Given the description of an element on the screen output the (x, y) to click on. 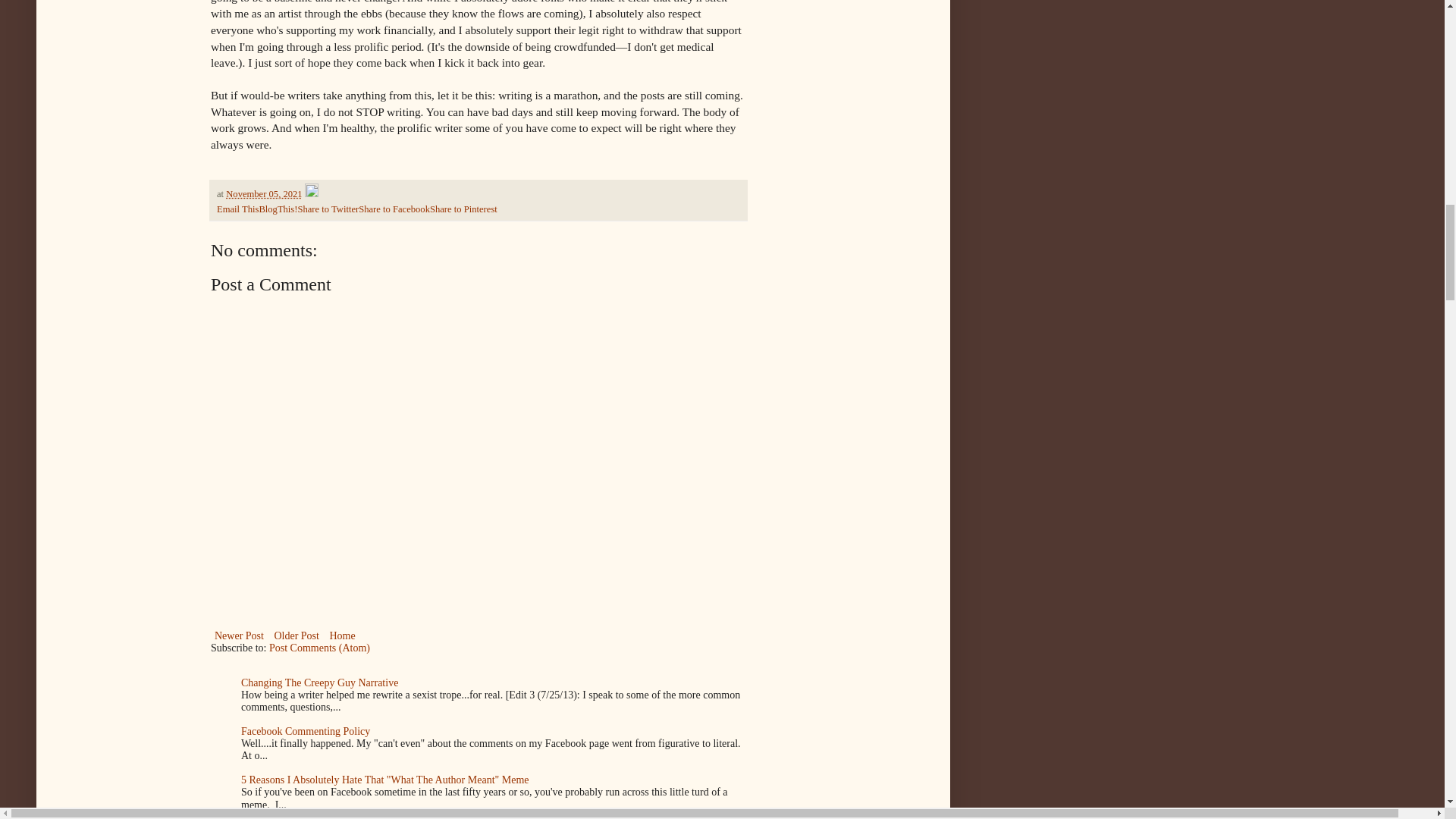
BlogThis! (278, 208)
Edit Post (311, 194)
Share to Pinterest (463, 208)
BlogThis! (278, 208)
Home (341, 635)
Share to Twitter (327, 208)
Newer Post (239, 635)
Older Post (296, 635)
Share to Twitter (327, 208)
Older Post (296, 635)
Share to Facebook (393, 208)
Email This (237, 208)
Share to Pinterest (463, 208)
Changing The Creepy Guy Narrative (319, 682)
